Given the description of an element on the screen output the (x, y) to click on. 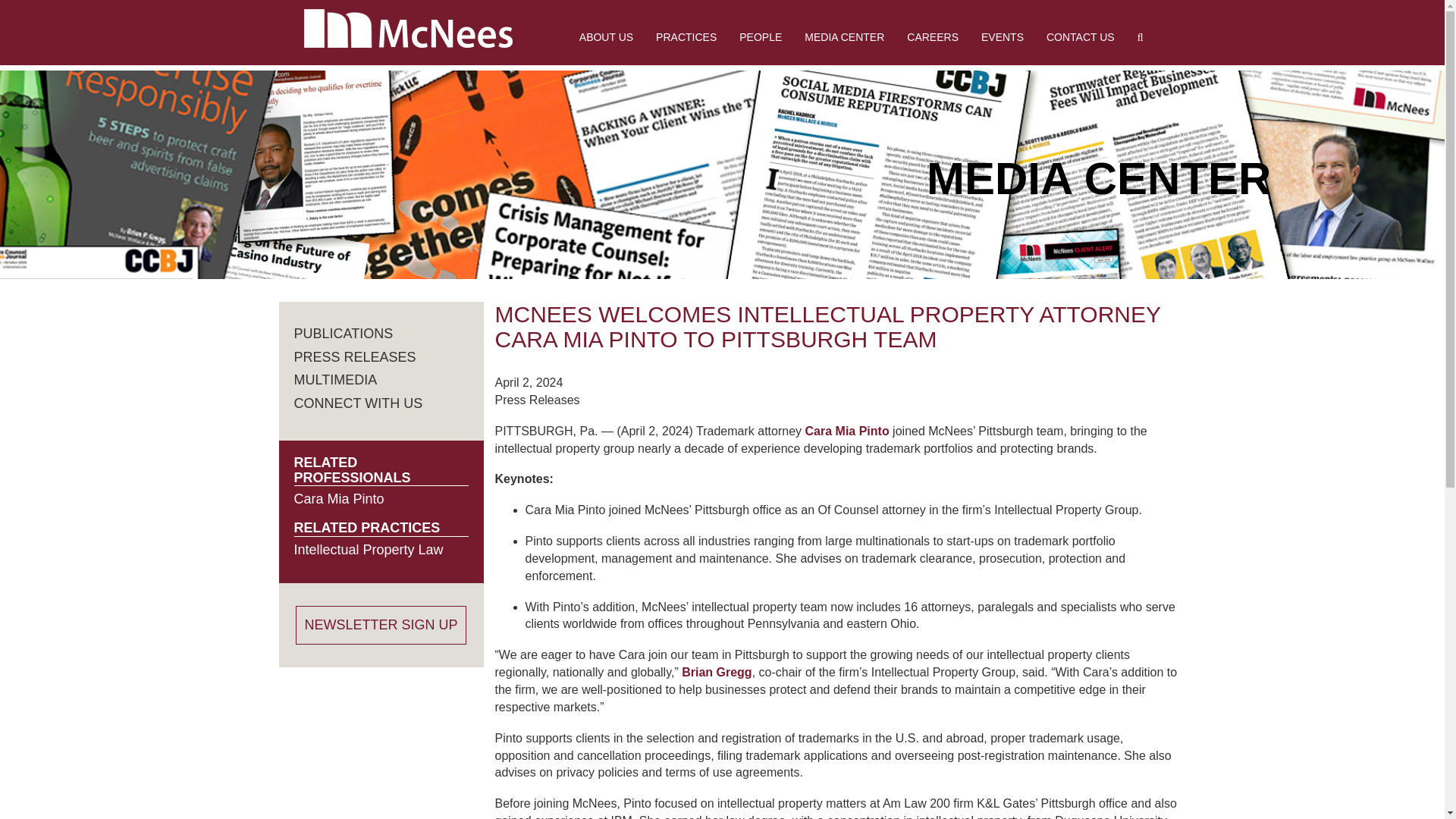
MULTIMEDIA (335, 379)
CAREERS (932, 37)
PEOPLE (760, 37)
NEWSLETTER SIGN UP (380, 625)
Brian Gregg (716, 671)
EVENTS (1002, 37)
PUBLICATIONS (343, 333)
NEWSLETTER SIGN UP (381, 625)
ABOUT US (606, 37)
MEDIA CENTER (844, 37)
